Given the description of an element on the screen output the (x, y) to click on. 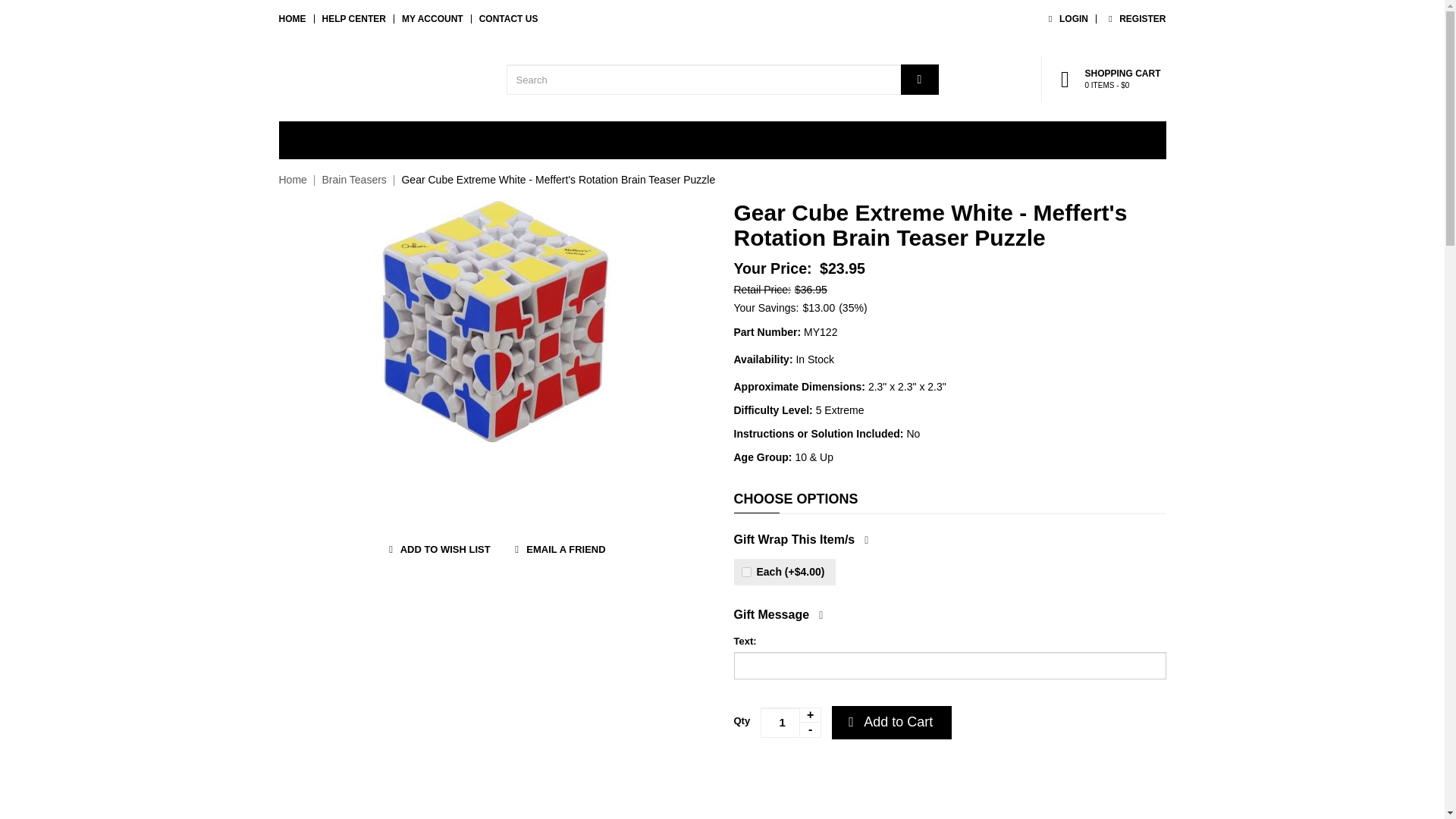
HELP CENTER (353, 18)
Home (1134, 18)
Brain Teasers (293, 179)
EMAIL A FRIEND (353, 179)
MY ACCOUNT (1065, 18)
1 (558, 549)
ADD TO WISH LIST (432, 18)
